Given the description of an element on the screen output the (x, y) to click on. 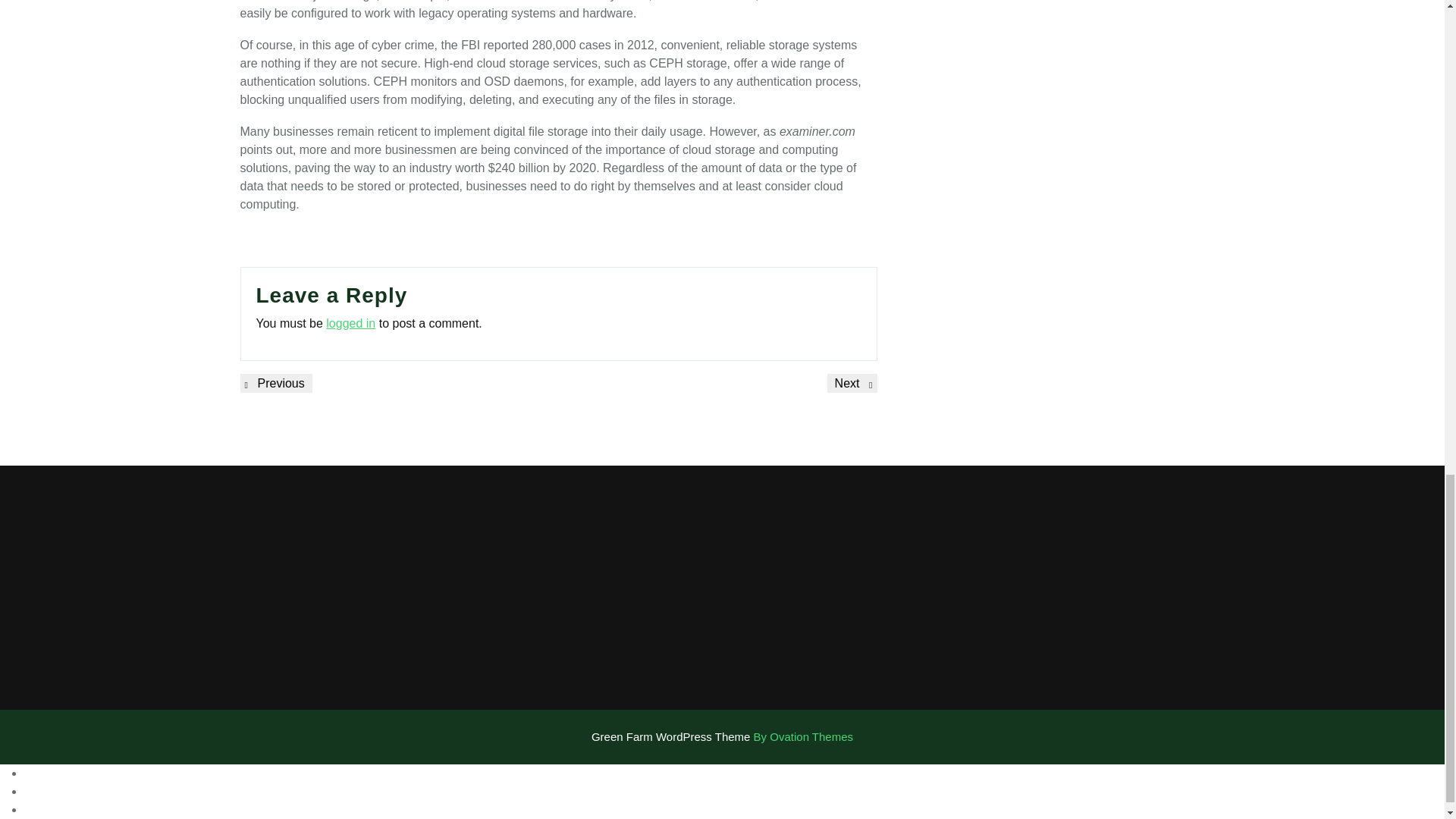
Green Farm WordPress Theme By Ovation Themes (275, 383)
logged in (852, 383)
